Given the description of an element on the screen output the (x, y) to click on. 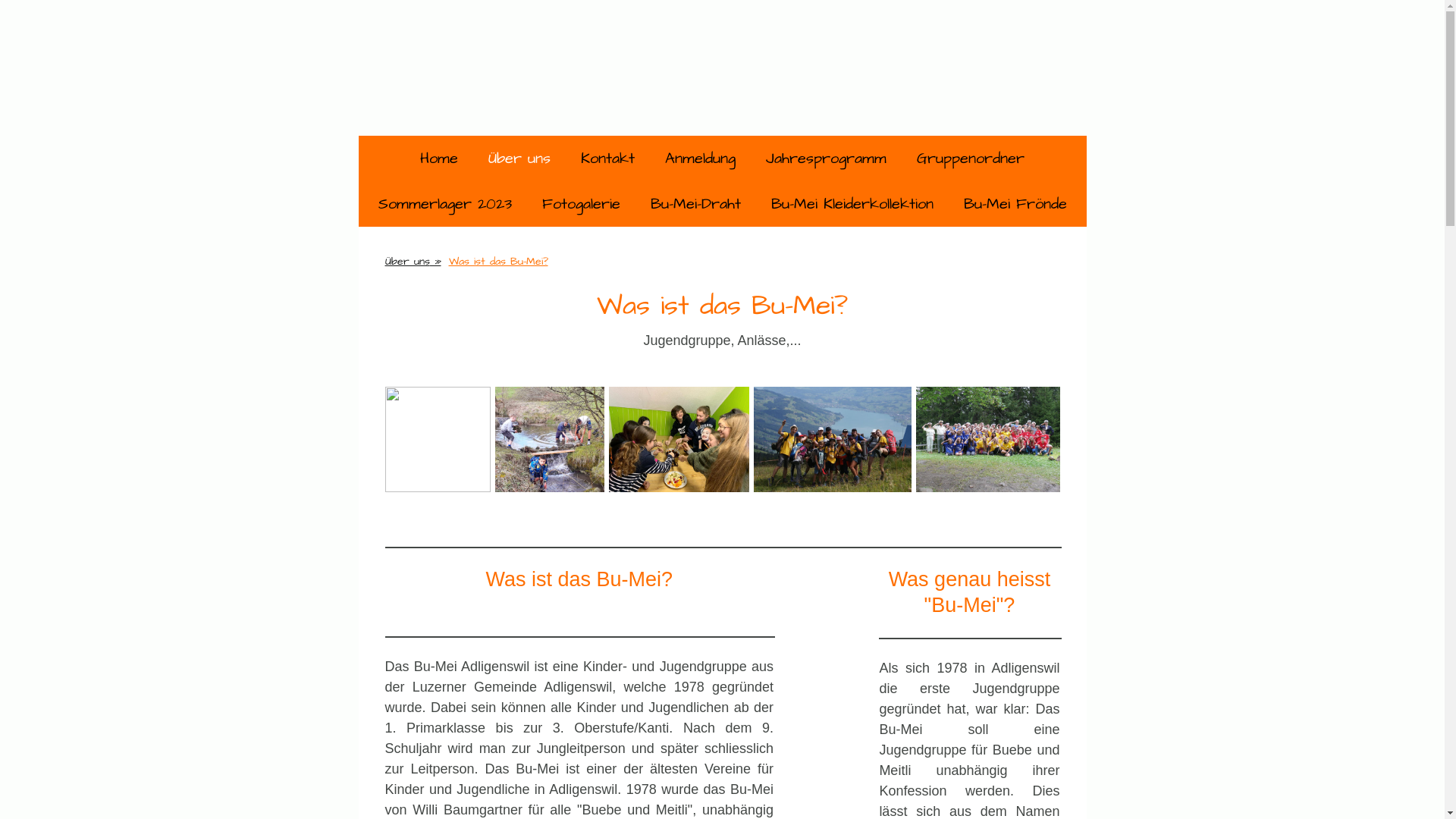
Sommerlager 2023 Element type: text (444, 203)
Home Element type: text (438, 158)
Bu-Mei-Draht Element type: text (695, 203)
Jahresprogramm Element type: text (825, 158)
Anmeldung Element type: text (699, 158)
Kontakt Element type: text (607, 158)
Was ist das Bu-Mei? Element type: text (497, 261)
Gruppenordner Element type: text (970, 158)
Bu-Mei Kleiderkollektion Element type: text (851, 203)
Fotogalerie Element type: text (580, 203)
